Given the description of an element on the screen output the (x, y) to click on. 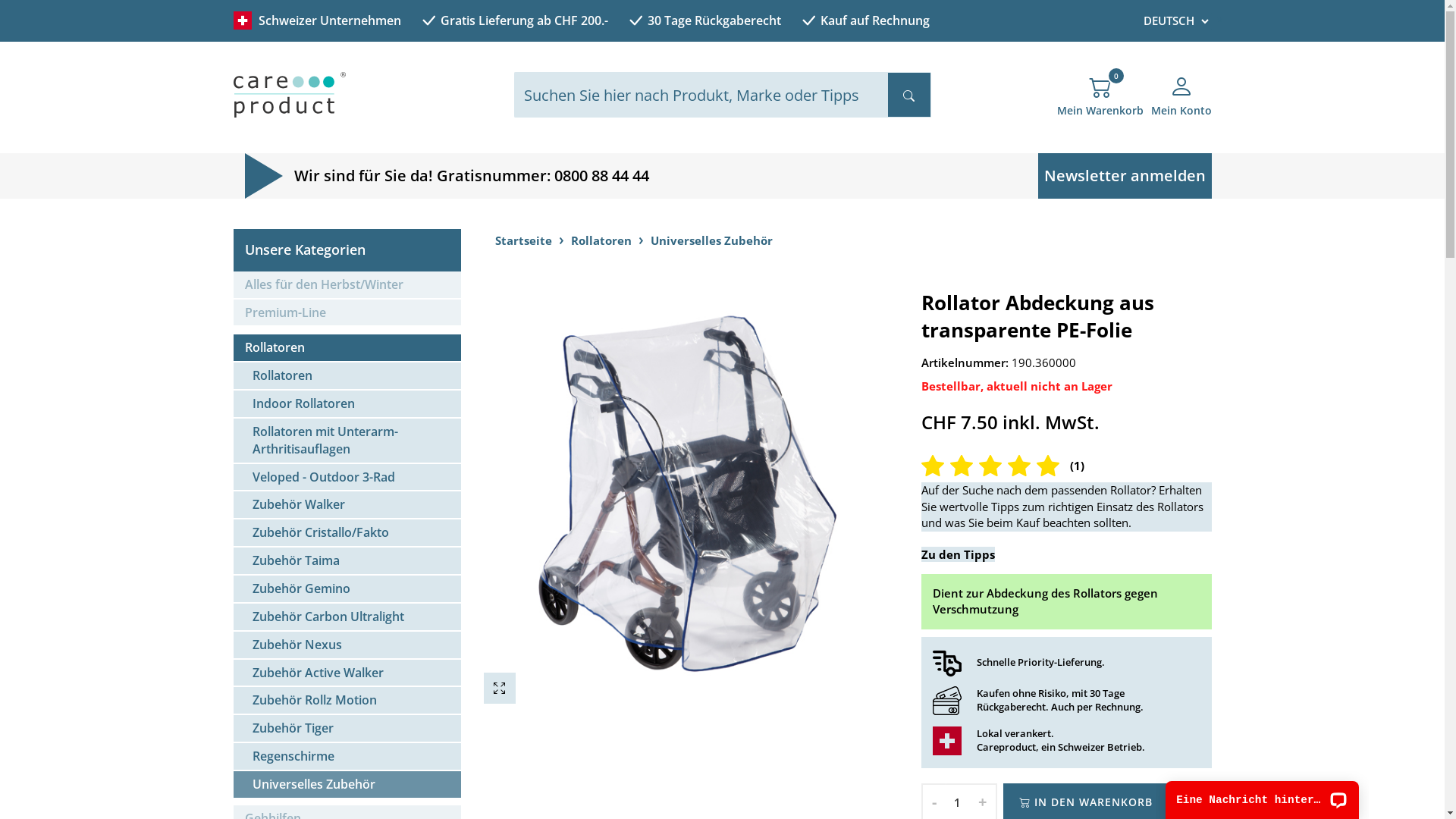
0
Mein Warenkorb Element type: text (1100, 101)
 (1) Element type: text (1066, 465)
Mein Konto Element type: text (1181, 101)
Rollatoren mit Unterarm-Arthritisauflagen Element type: text (347, 441)
Indoor Rollatoren Element type: text (347, 404)
Regenschirme Element type: text (347, 757)
Startseite Element type: text (522, 239)
Zu den Tipps Element type: text (957, 553)
Newsletter anmelden Element type: text (1124, 175)
Rollatoren Element type: text (347, 376)
Rollatoren Element type: text (347, 348)
Veloped - Outdoor 3-Rad Element type: text (347, 478)
* Element type: text (1219, 20)
Rollatoren Element type: text (600, 239)
Schnelle Priority-Lieferung. Element type: hover (946, 662)
Premium-Line Element type: text (347, 313)
Lokal verankert.<br>Careproduct, ein Schweizer Betrieb. Element type: hover (946, 740)
